Given the description of an element on the screen output the (x, y) to click on. 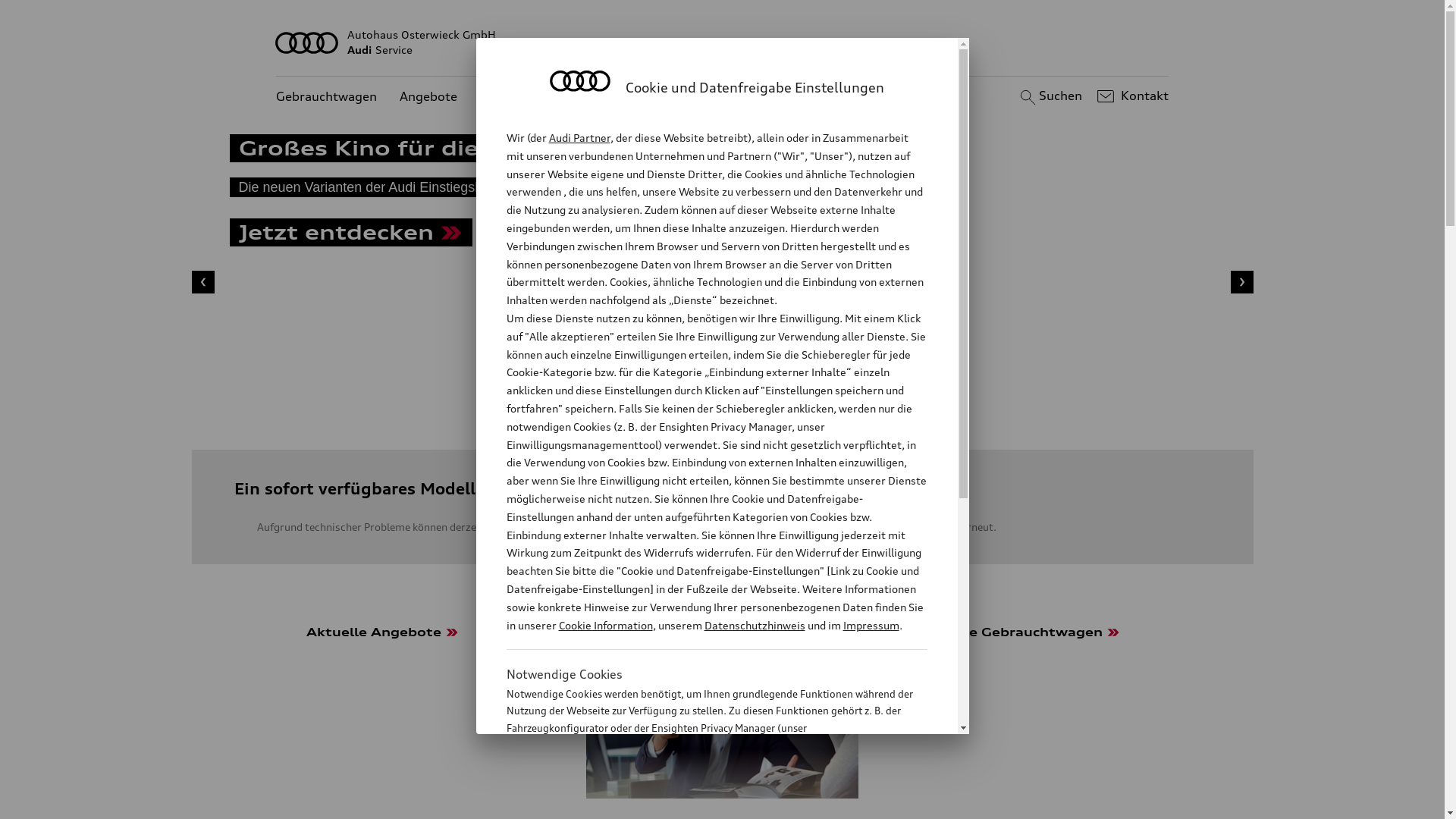
Angebote Element type: text (428, 96)
Cookie Information Element type: text (700, 802)
Kontakt Element type: text (1130, 96)
Audi Partner Element type: text (579, 137)
Jetzt entdecken Element type: text (350, 235)
Unsere Gebrauchtwagen Element type: text (1032, 700)
Suchen Element type: text (1049, 96)
Autohaus Osterwieck GmbH
AudiService Element type: text (722, 42)
Unsere Leistungen Element type: text (721, 700)
Kundenservice Element type: text (523, 96)
Datenschutzhinweis Element type: text (753, 624)
Gebrauchtwagen Element type: text (326, 96)
Cookie Information Element type: text (605, 624)
Impressum Element type: text (871, 624)
